Given the description of an element on the screen output the (x, y) to click on. 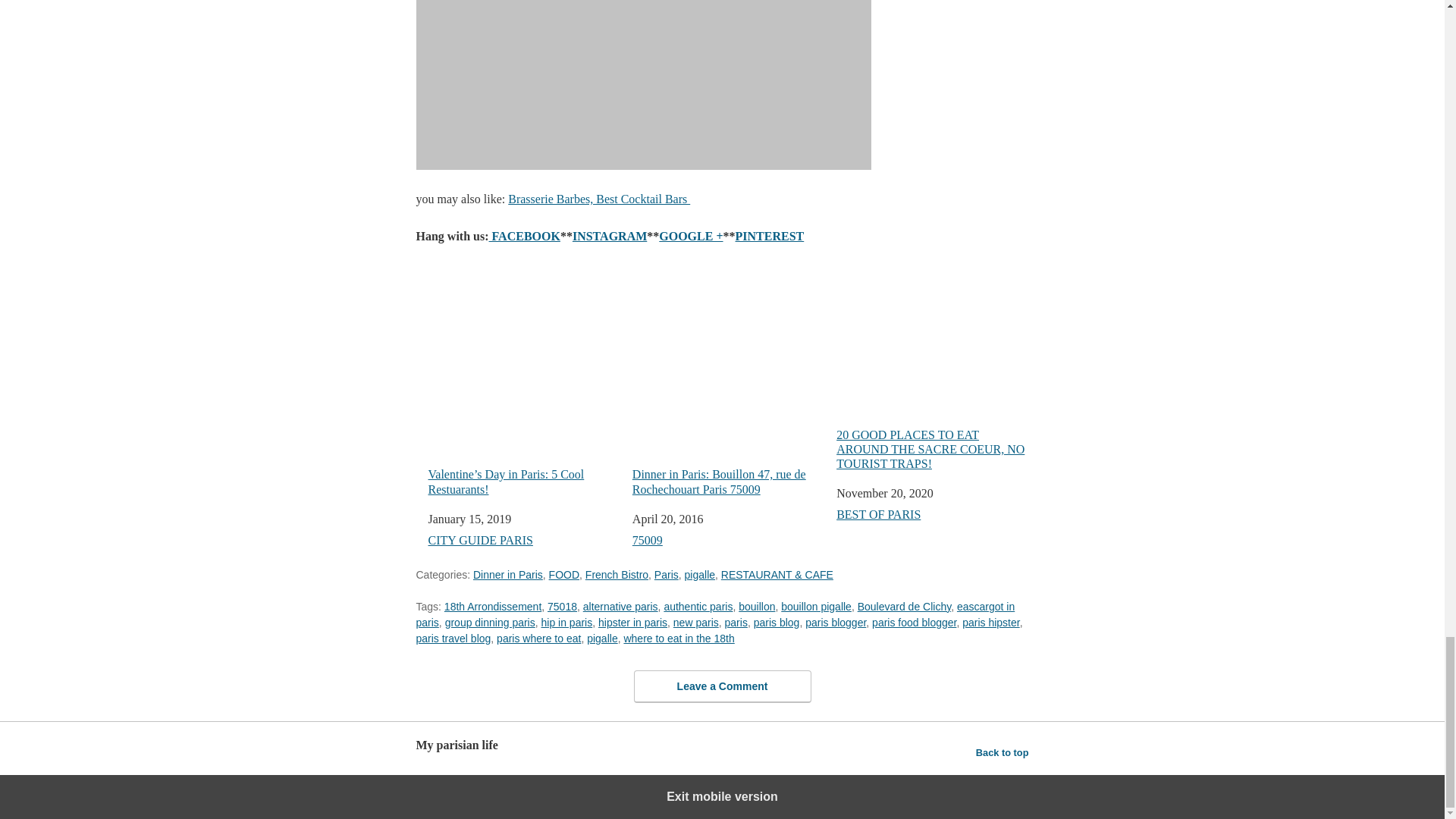
CITY GUIDE PARIS (480, 540)
INSTAGRAM (609, 236)
Brasserie Barbes, Best Cocktail Bars  (599, 198)
French Bistro (616, 574)
FOOD (563, 574)
authentic paris (697, 606)
group dinning paris (490, 622)
75009 (646, 540)
bouillon pigalle (815, 606)
eascargot in paris (714, 614)
alternative paris (620, 606)
 FACEBOOK (524, 236)
Boulevard de Clichy (903, 606)
